Given the description of an element on the screen output the (x, y) to click on. 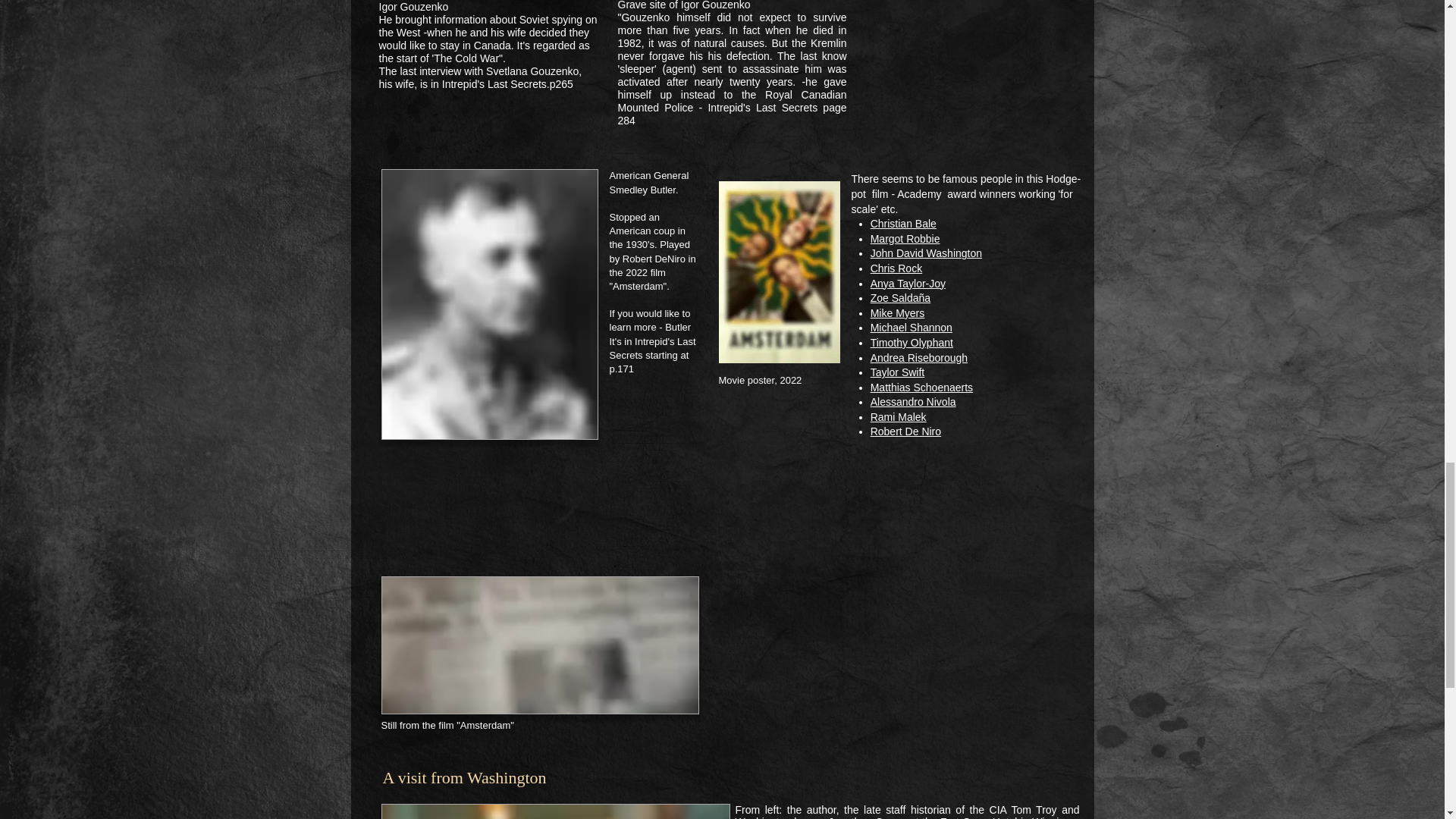
Alessandro Nivola (913, 401)
Taylor Swift (897, 372)
John David Washington (925, 253)
SmedleyButler.jpeg.jpeg (488, 303)
Margot Robbie (905, 238)
tmpposter23989.jpg (779, 271)
Michael Shannon (911, 327)
Anya Taylor-Joy (907, 283)
Andrea Riseborough (919, 357)
Rami Malek (898, 417)
Mike Myers (897, 313)
Timothy Olyphant (911, 342)
Igor Gouzenko (413, 6)
Matthias Schoenaerts (921, 387)
Robert De Niro (905, 431)
